Given the description of an element on the screen output the (x, y) to click on. 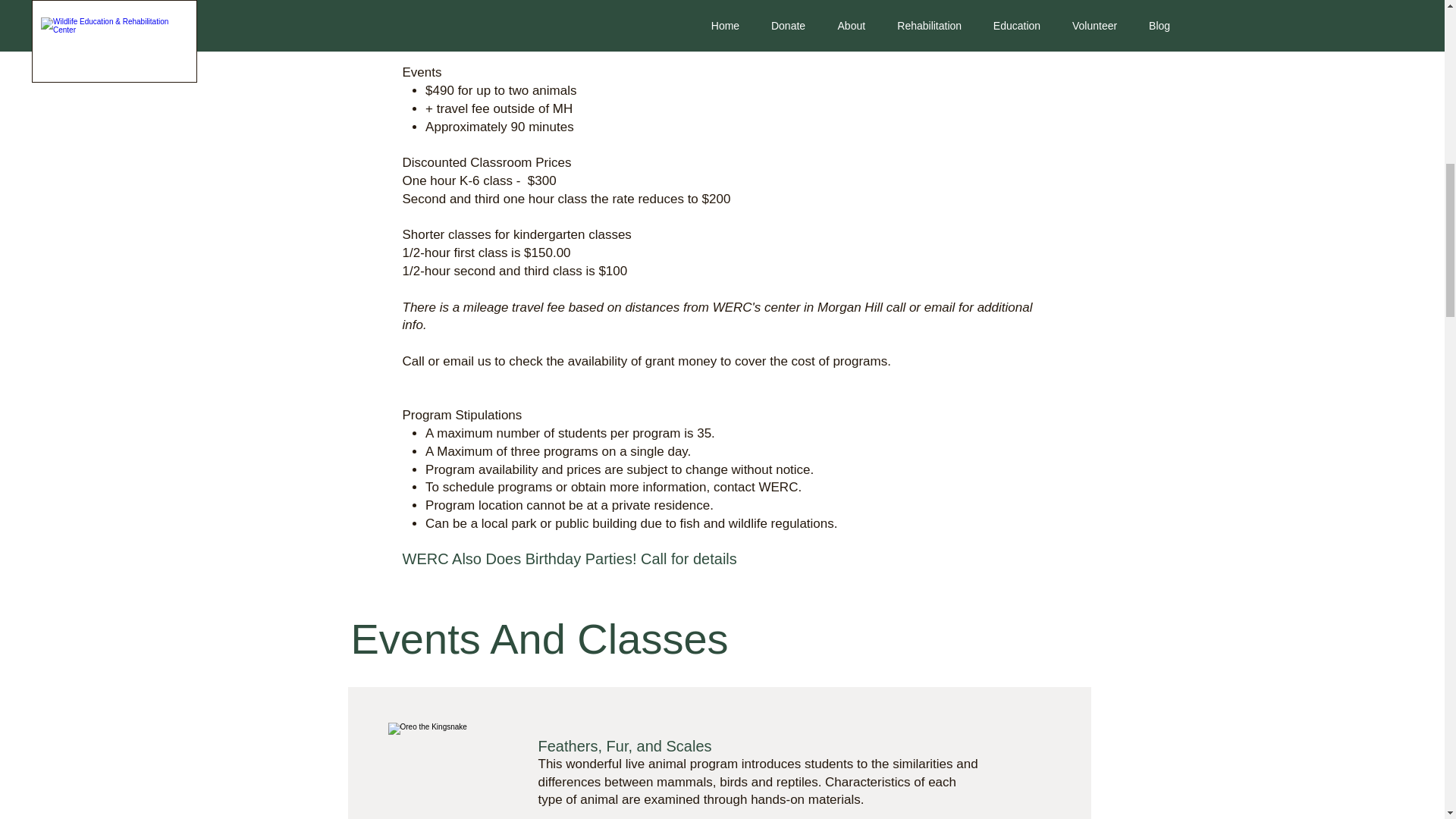
Photo Credit Brad Lewis (448, 770)
WERC. (780, 486)
